Given the description of an element on the screen output the (x, y) to click on. 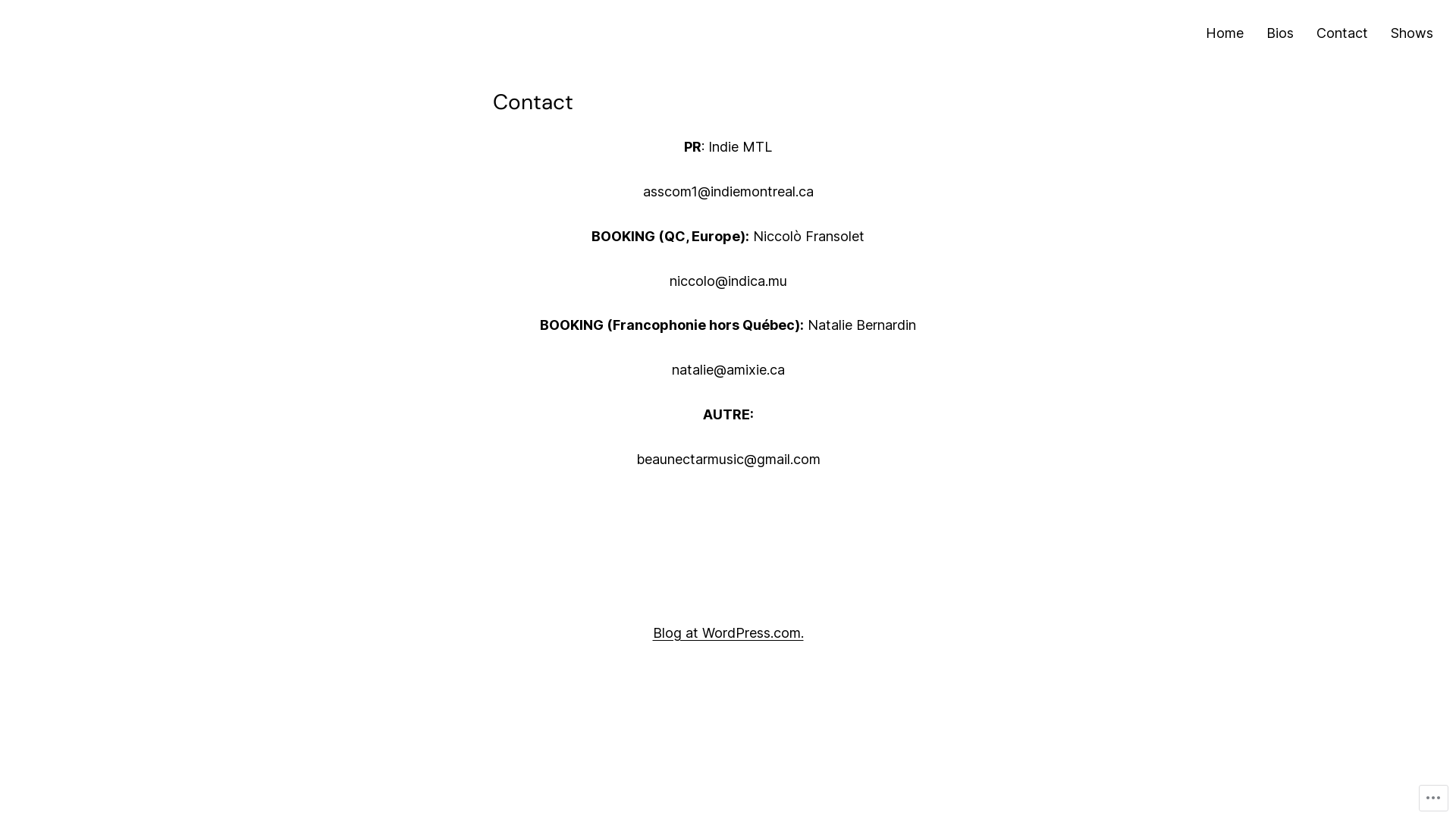
Shows Element type: text (1411, 33)
Blog at WordPress.com. Element type: text (727, 632)
Contact Element type: text (1342, 33)
Home Element type: text (1224, 33)
Bios Element type: text (1279, 33)
